Given the description of an element on the screen output the (x, y) to click on. 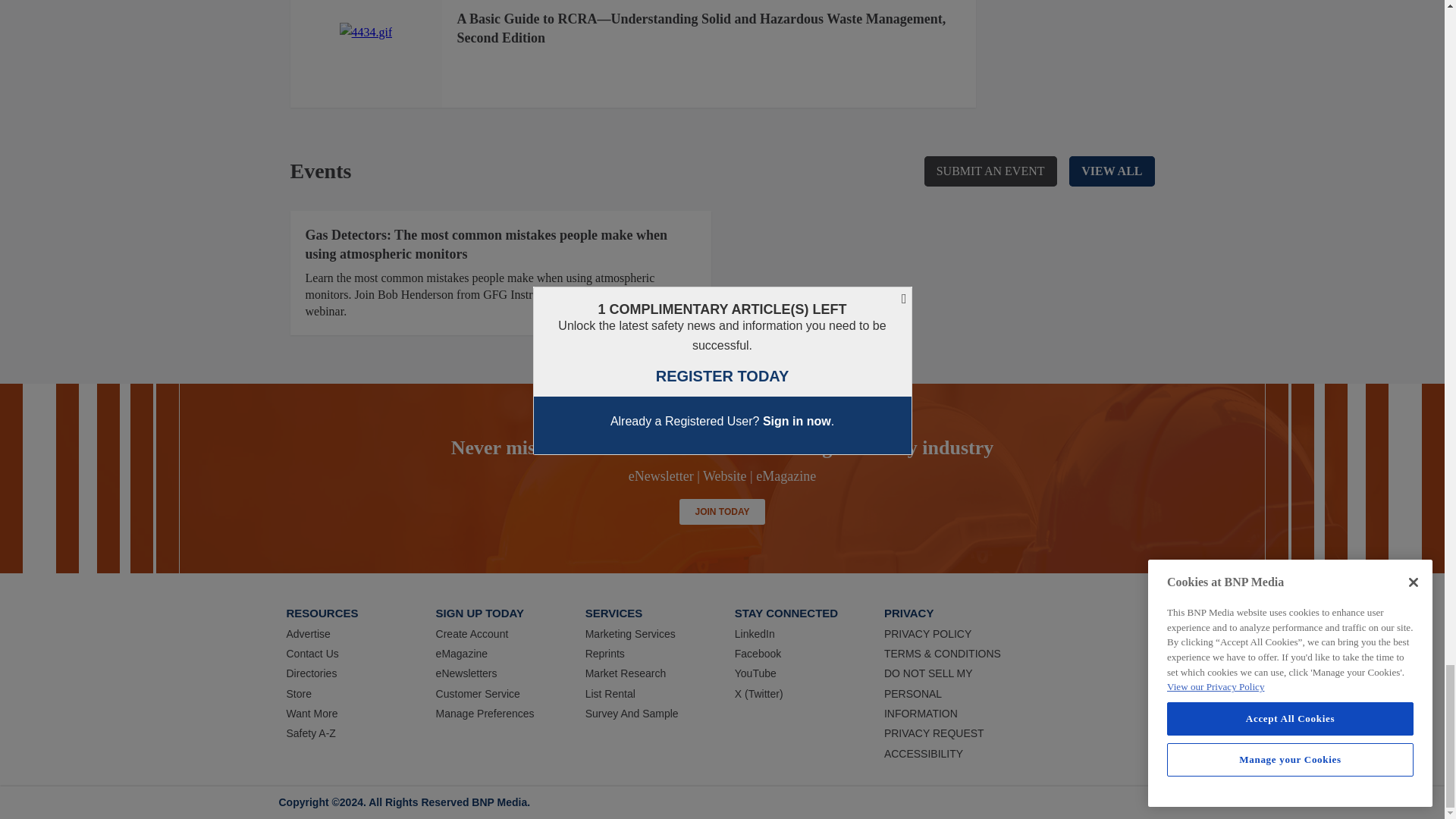
4434.gif (366, 32)
